Given the description of an element on the screen output the (x, y) to click on. 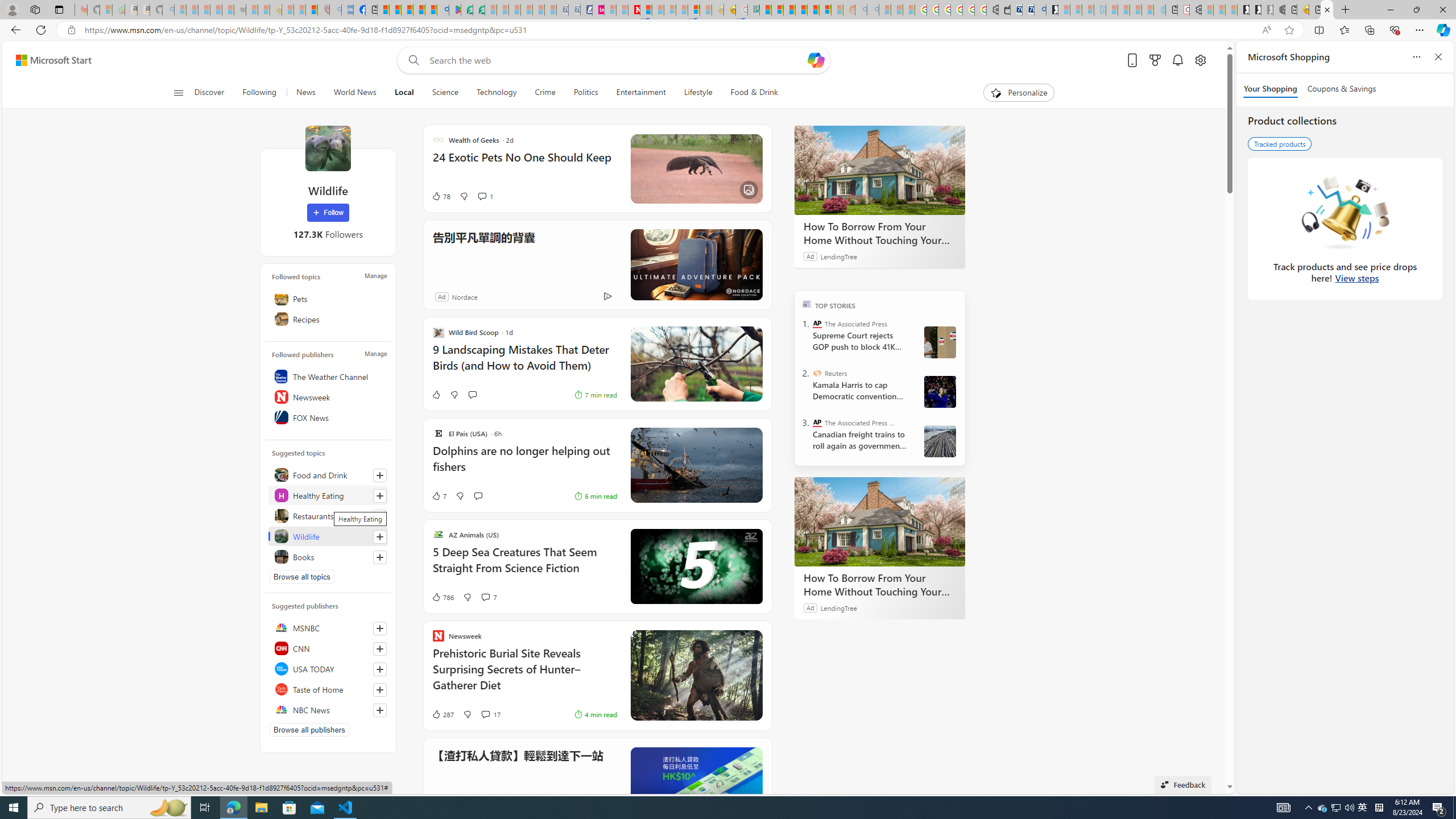
Dolphins are no longer helping out fishers (524, 464)
Class: button-glyph (178, 92)
14 Common Myths Debunked By Scientific Facts - Sleeping (657, 9)
Pets - MSN (418, 9)
